Given the description of an element on the screen output the (x, y) to click on. 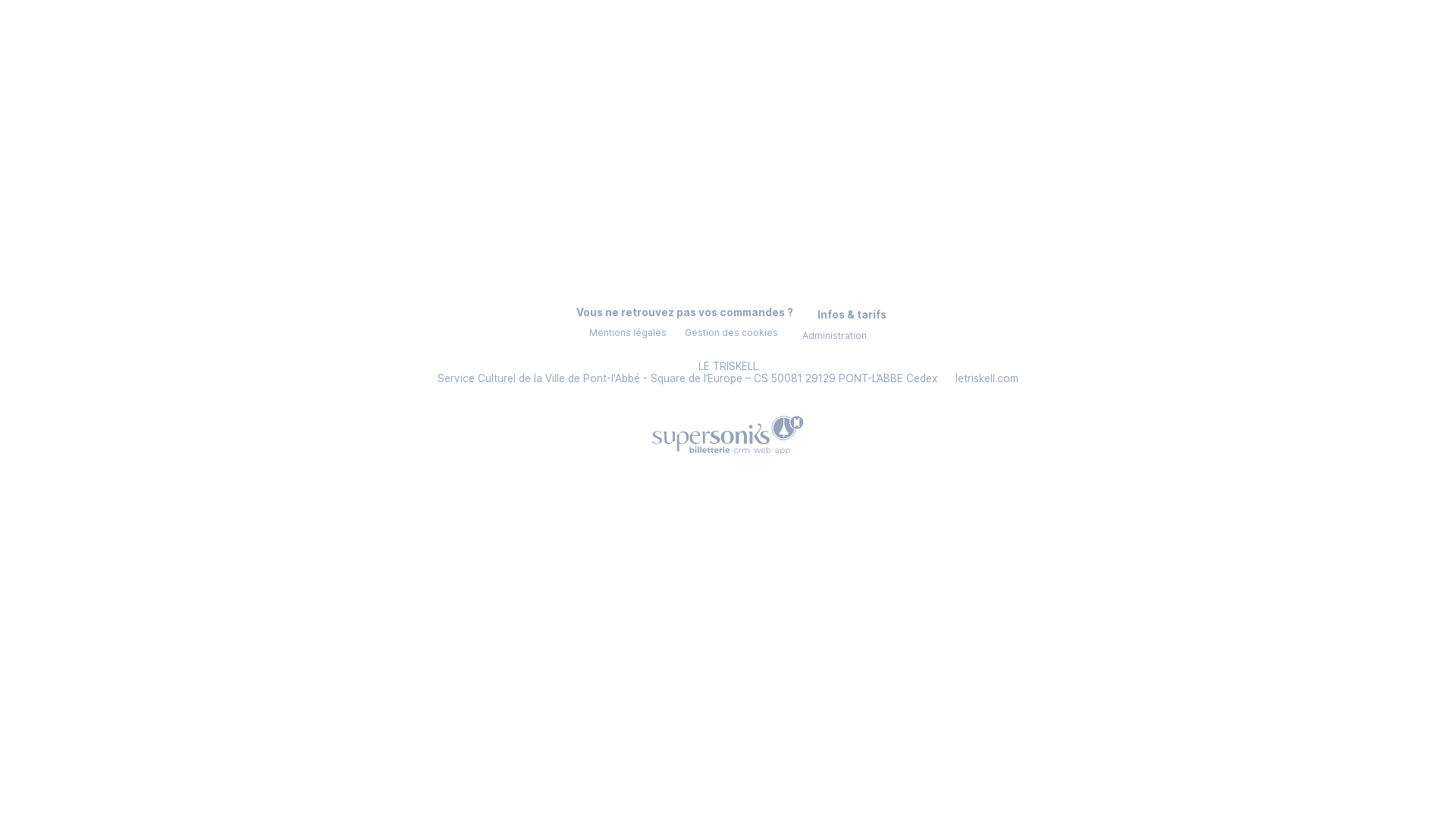
Infos & tarifs Element type: text (848, 314)
Vous ne retrouvez pas vos commandes ? Element type: text (681, 312)
Administration Element type: text (831, 335)
Gestion des cookies Element type: text (731, 332)
letriskell.com Element type: text (985, 378)
